Given the description of an element on the screen output the (x, y) to click on. 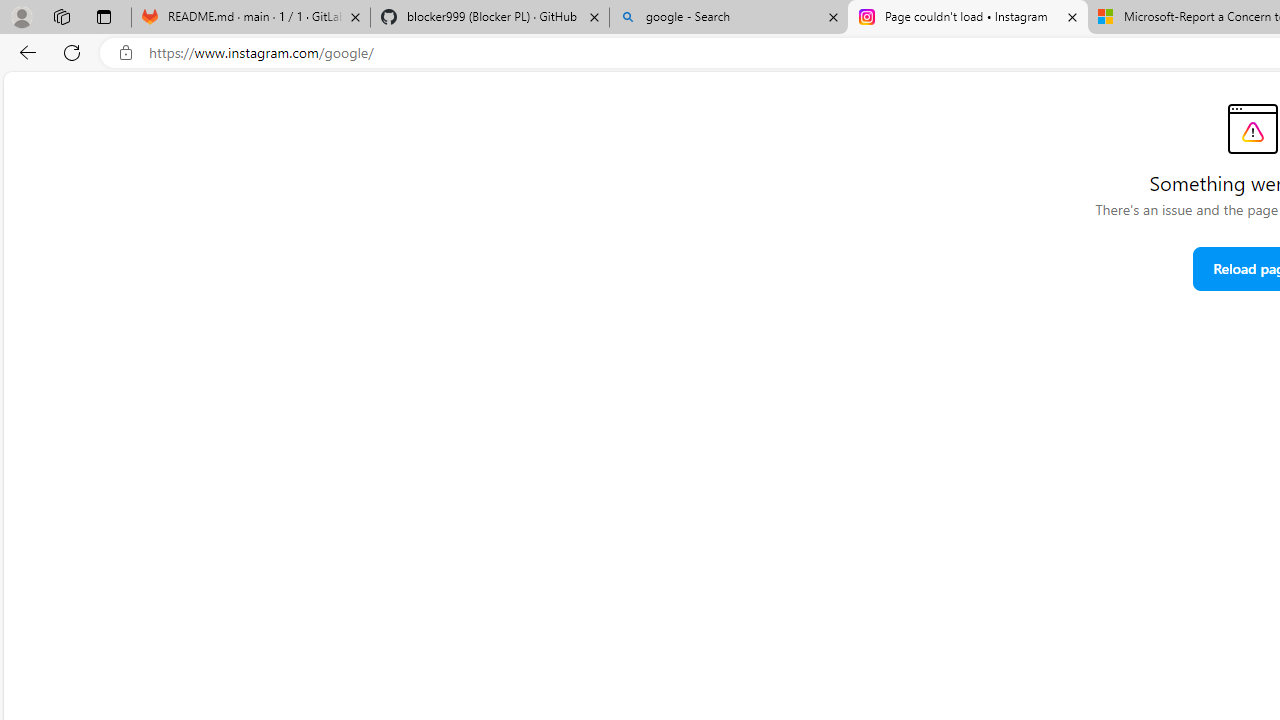
Error (1252, 128)
google - Search (729, 17)
Tab actions menu (104, 16)
Refresh (72, 52)
View site information (125, 53)
Personal Profile (21, 16)
Back (24, 52)
Workspaces (61, 16)
